Given the description of an element on the screen output the (x, y) to click on. 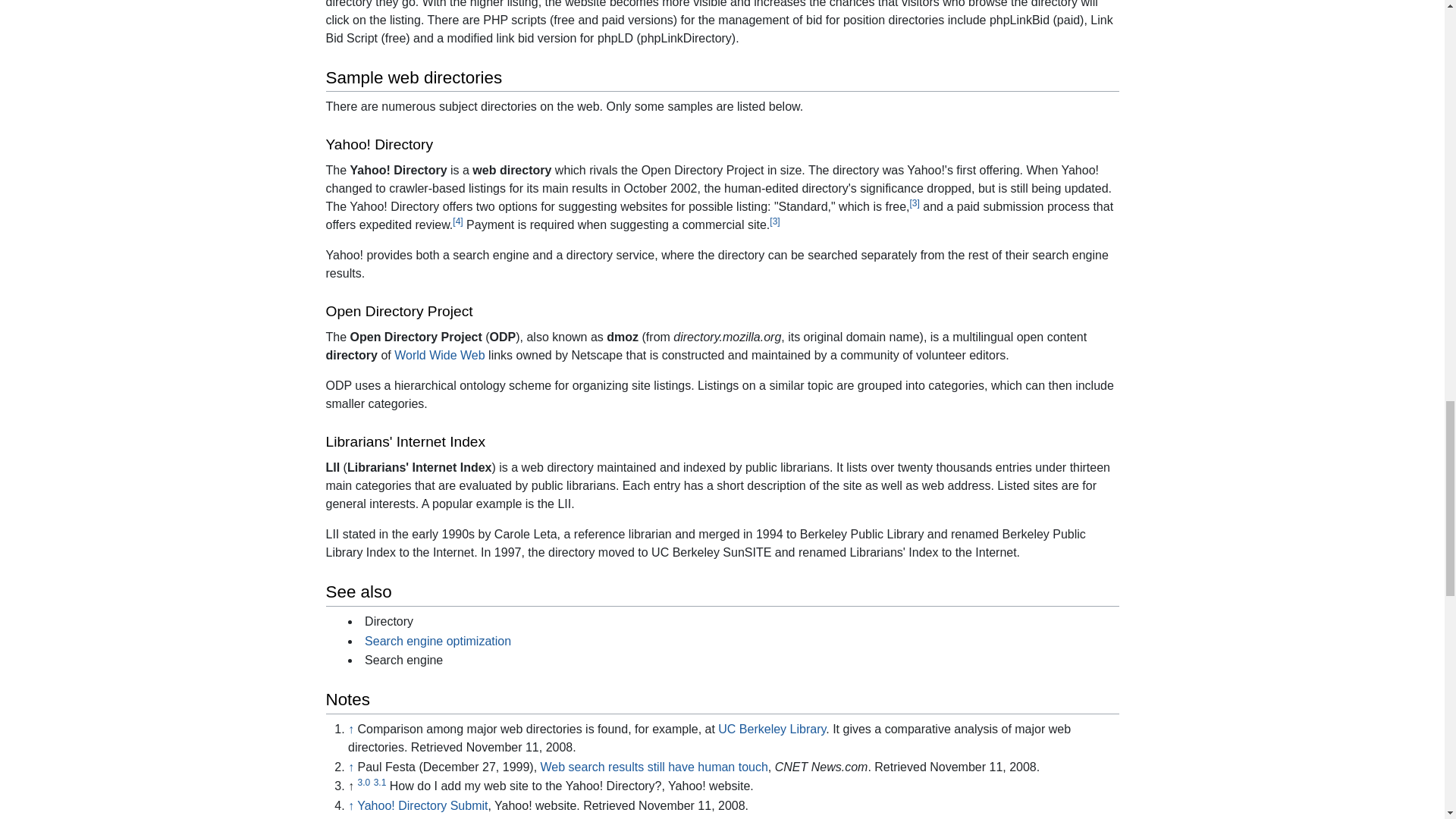
Search engine optimization (438, 640)
web directory (511, 169)
UC Berkeley Library (771, 728)
World Wide Web (439, 354)
Search engine optimization (438, 640)
directory (351, 354)
World Wide Web (439, 354)
